Given the description of an element on the screen output the (x, y) to click on. 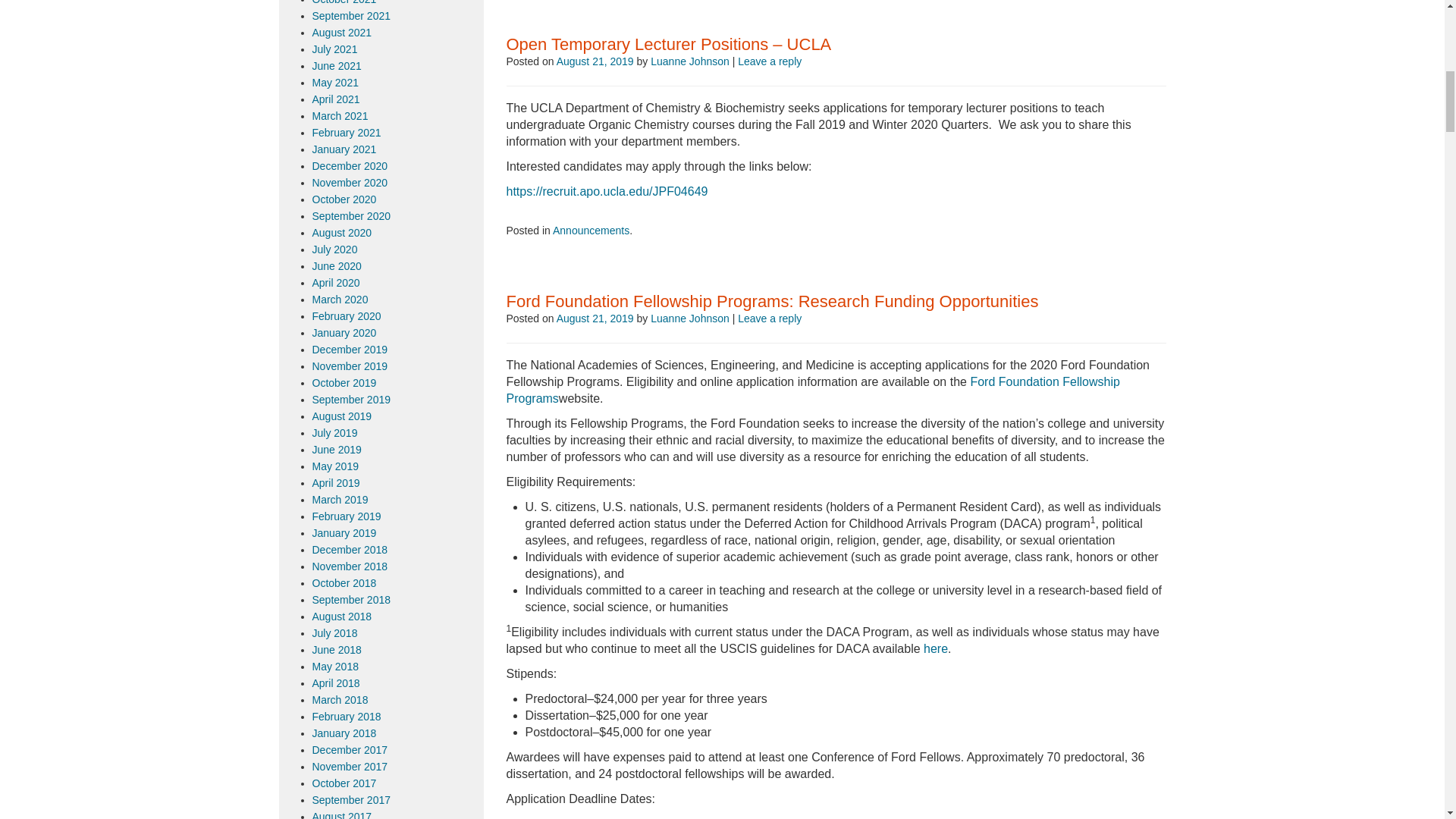
Announcements (590, 230)
Ford Foundation Fellowship Programs (812, 389)
Leave a reply (770, 318)
August 21, 2019 (594, 318)
Luanne Johnson (689, 61)
3:20 pm (594, 61)
here (935, 648)
August 21, 2019 (594, 61)
9:32 am (594, 318)
View all posts by Luanne Johnson (689, 318)
View all posts by Luanne Johnson (689, 61)
Luanne Johnson (689, 318)
Leave a reply (770, 61)
